Given the description of an element on the screen output the (x, y) to click on. 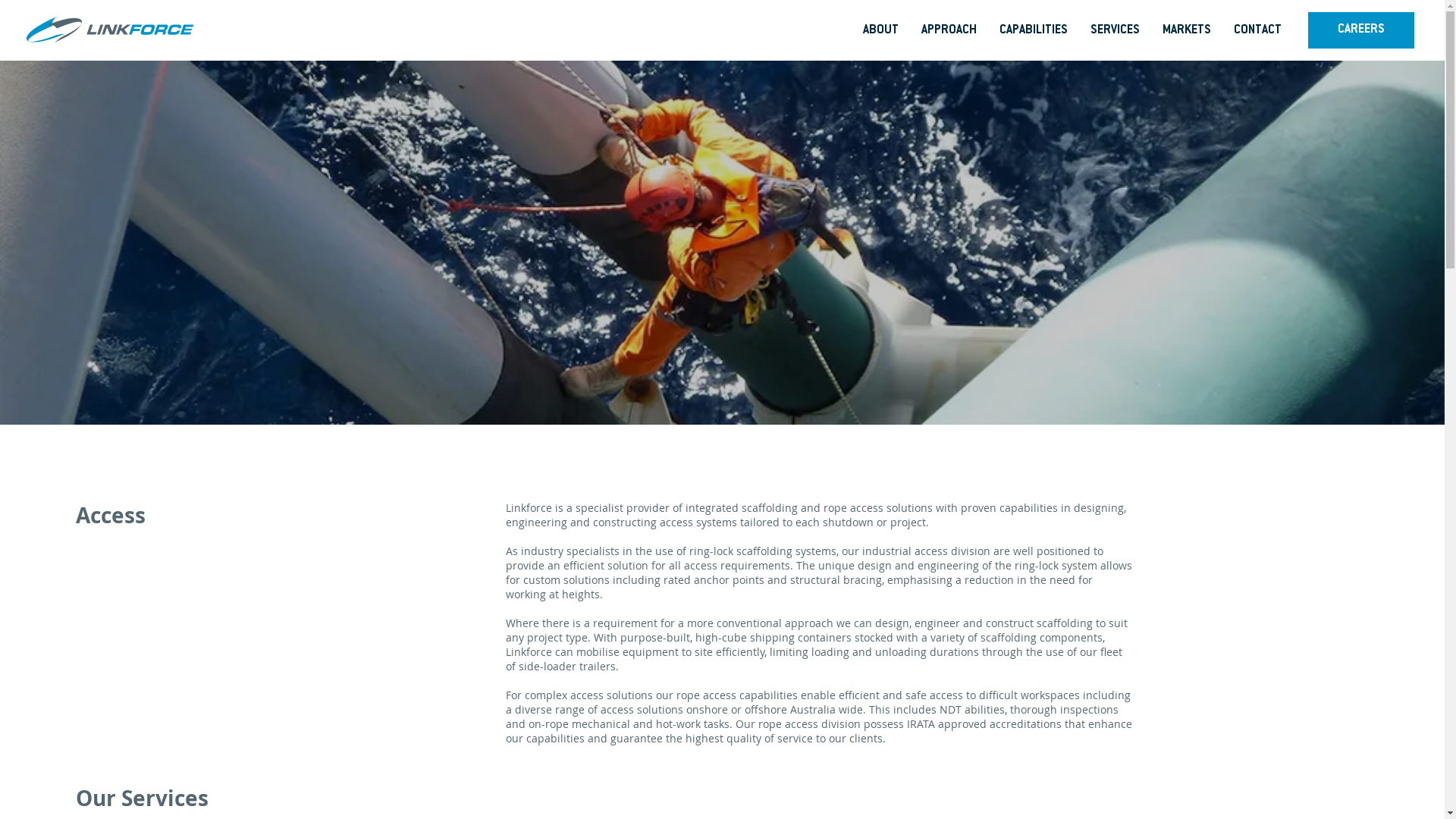
CONTACT Element type: text (1257, 30)
CAREERS Element type: text (1361, 30)
